Given the description of an element on the screen output the (x, y) to click on. 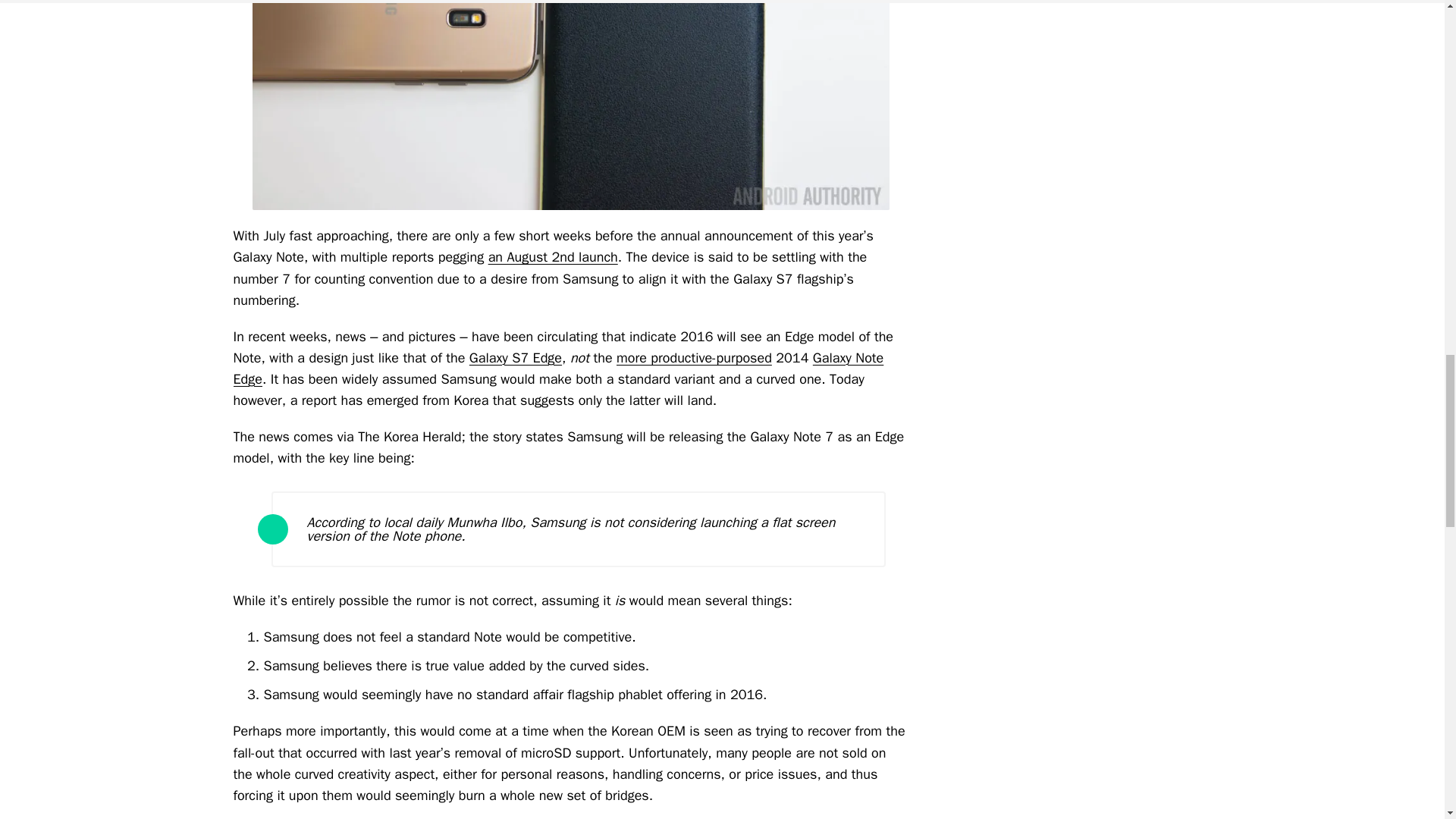
S7 vs note5 bigger pixel more pixel-3 (569, 104)
an August 2nd launch (552, 256)
more productive-purposed (693, 357)
Galaxy Note Edge (557, 368)
Galaxy S7 Edge (515, 357)
